Given the description of an element on the screen output the (x, y) to click on. 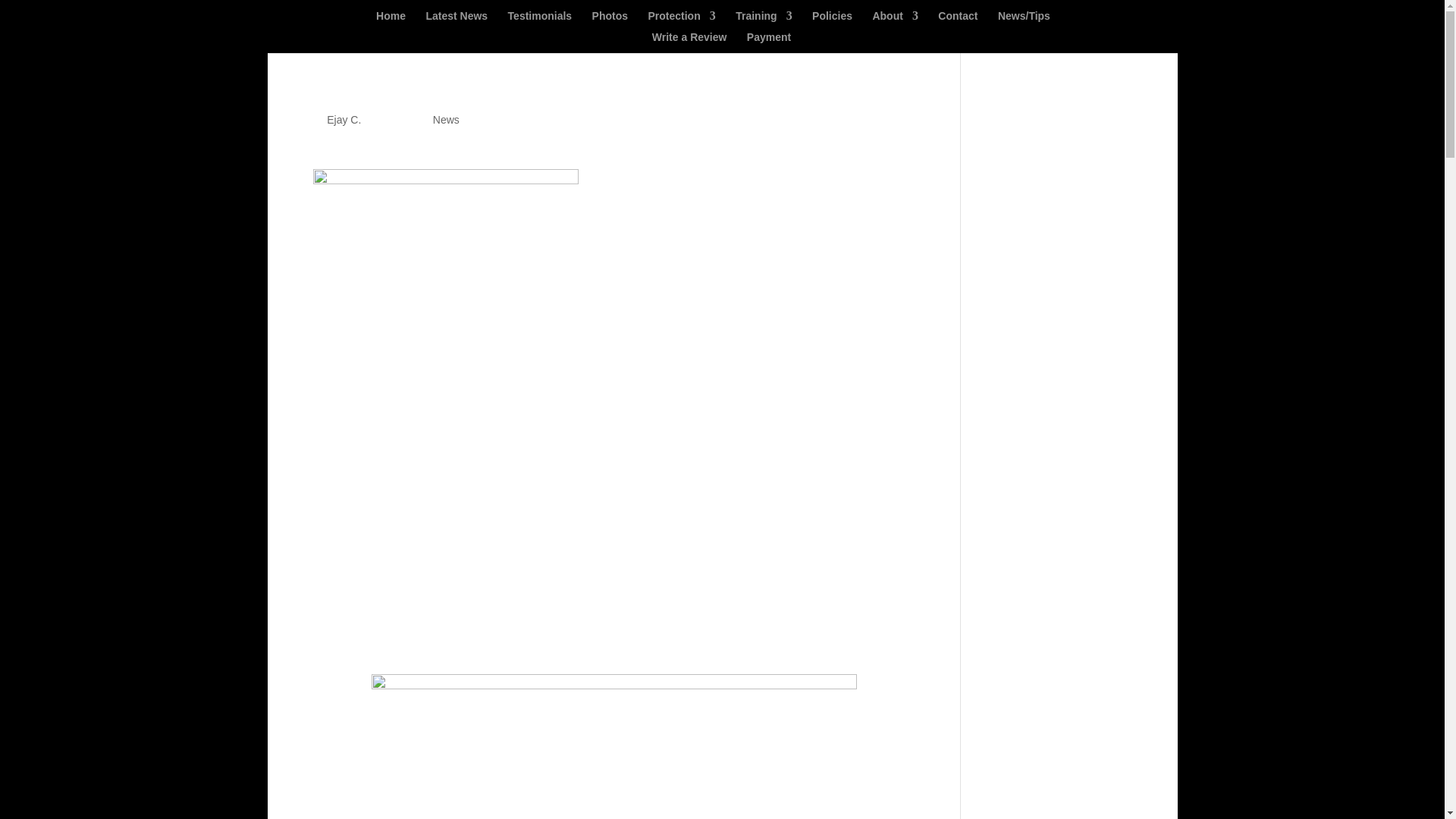
Policies (831, 20)
Contact (956, 20)
About (894, 20)
Posts by Ejay C. (343, 119)
Latest News (456, 20)
Photos (609, 20)
Write a Review (689, 42)
Payment (768, 42)
Protection (680, 20)
Training (763, 20)
Testimonials (540, 20)
Home (390, 20)
